Given the description of an element on the screen output the (x, y) to click on. 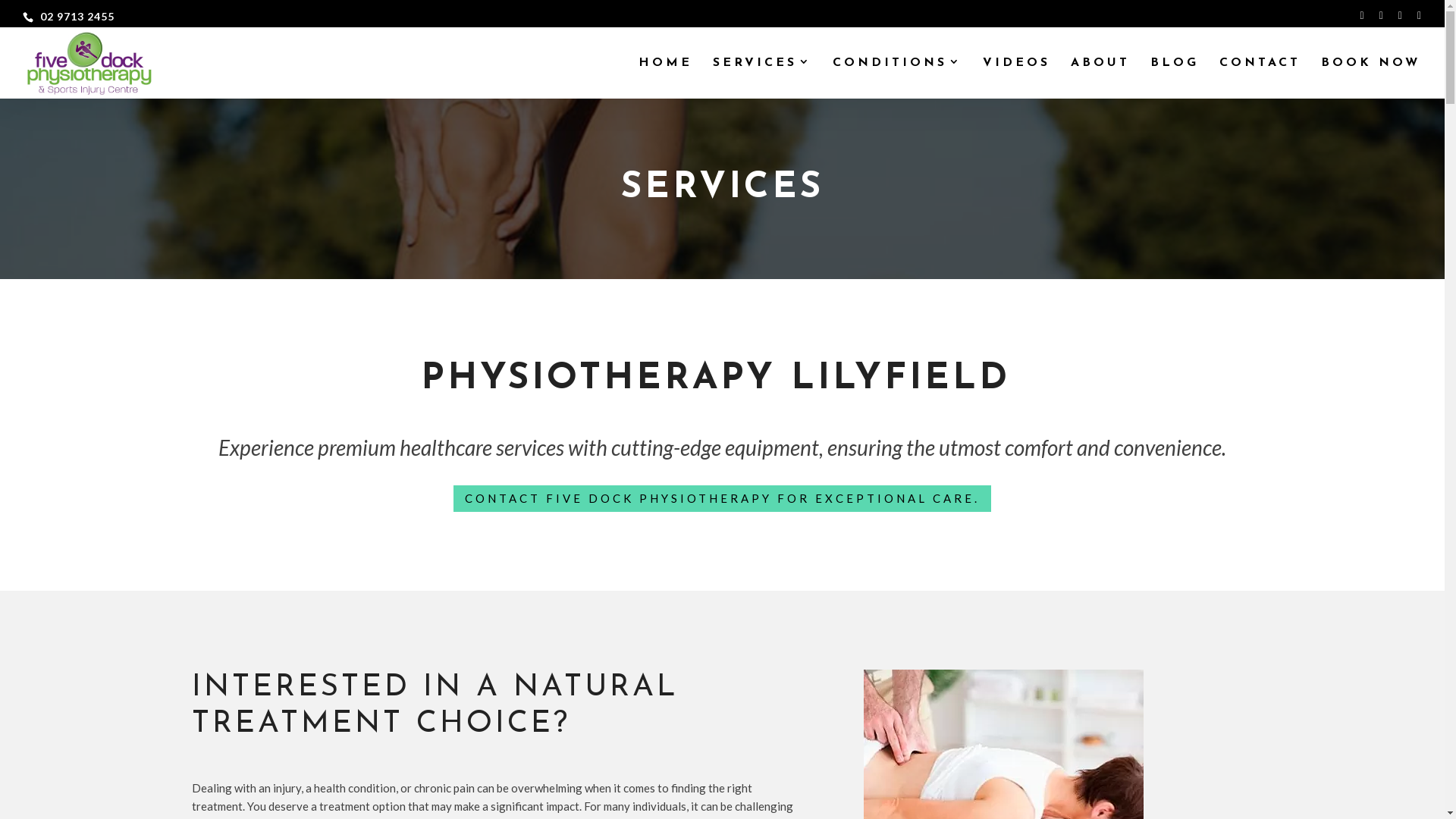
ABOUT Element type: text (1099, 77)
CONTACT FIVE DOCK PHYSIOTHERAPY FOR EXCEPTIONAL CARE. Element type: text (722, 498)
BLOG Element type: text (1174, 77)
HOME Element type: text (665, 77)
SERVICES Element type: text (762, 77)
BOOK NOW Element type: text (1370, 77)
CONTACT Element type: text (1259, 77)
02 9713 2455 Element type: text (77, 15)
CONDITIONS Element type: text (897, 77)
VIDEOS Element type: text (1016, 77)
